Given the description of an element on the screen output the (x, y) to click on. 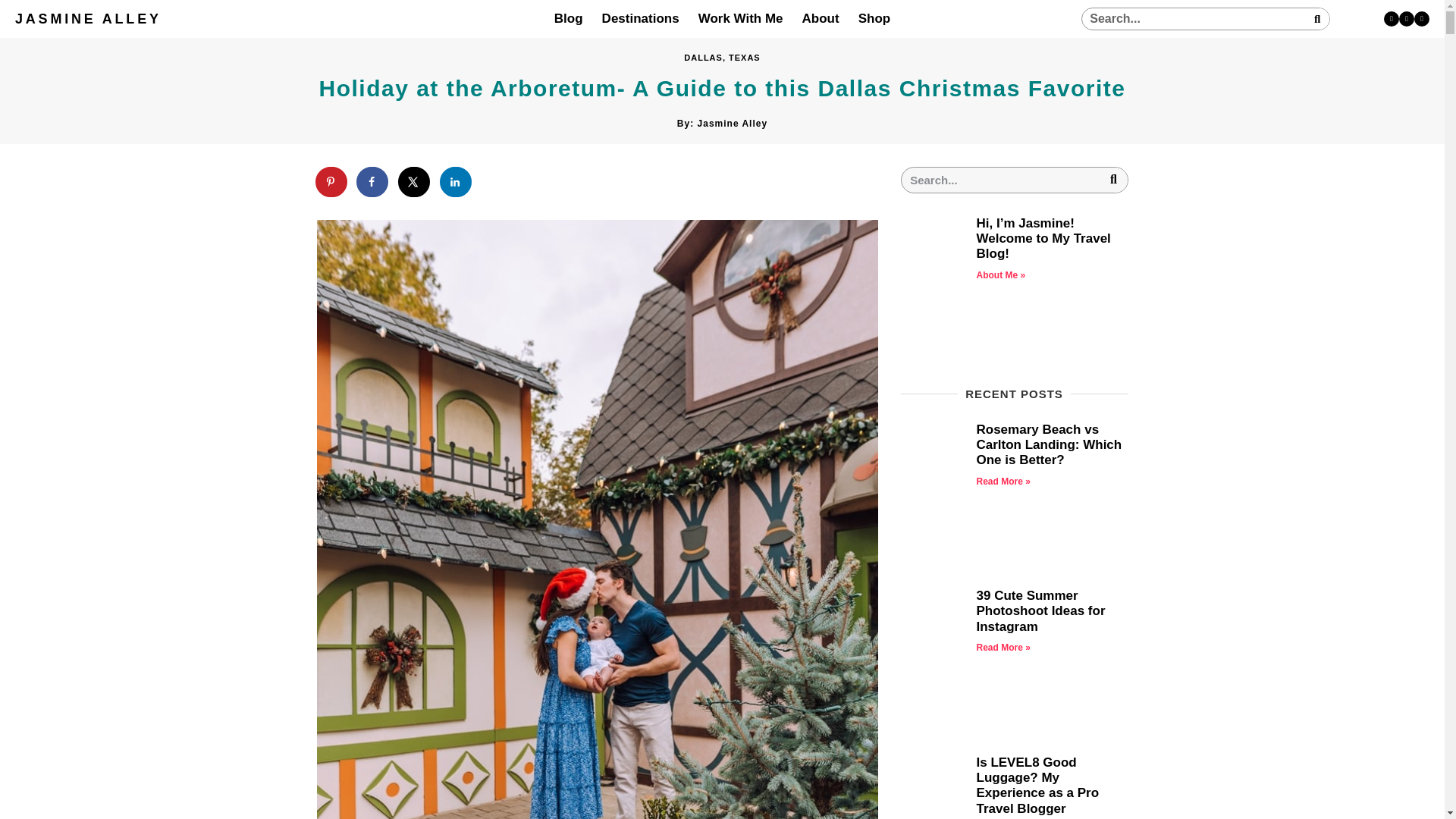
Save to Pinterest (332, 182)
Destinations (640, 18)
JASMINE ALLEY (87, 18)
Share on LinkedIn (456, 182)
Share on X (413, 182)
Blog (568, 18)
Share on Facebook (373, 182)
